Given the description of an element on the screen output the (x, y) to click on. 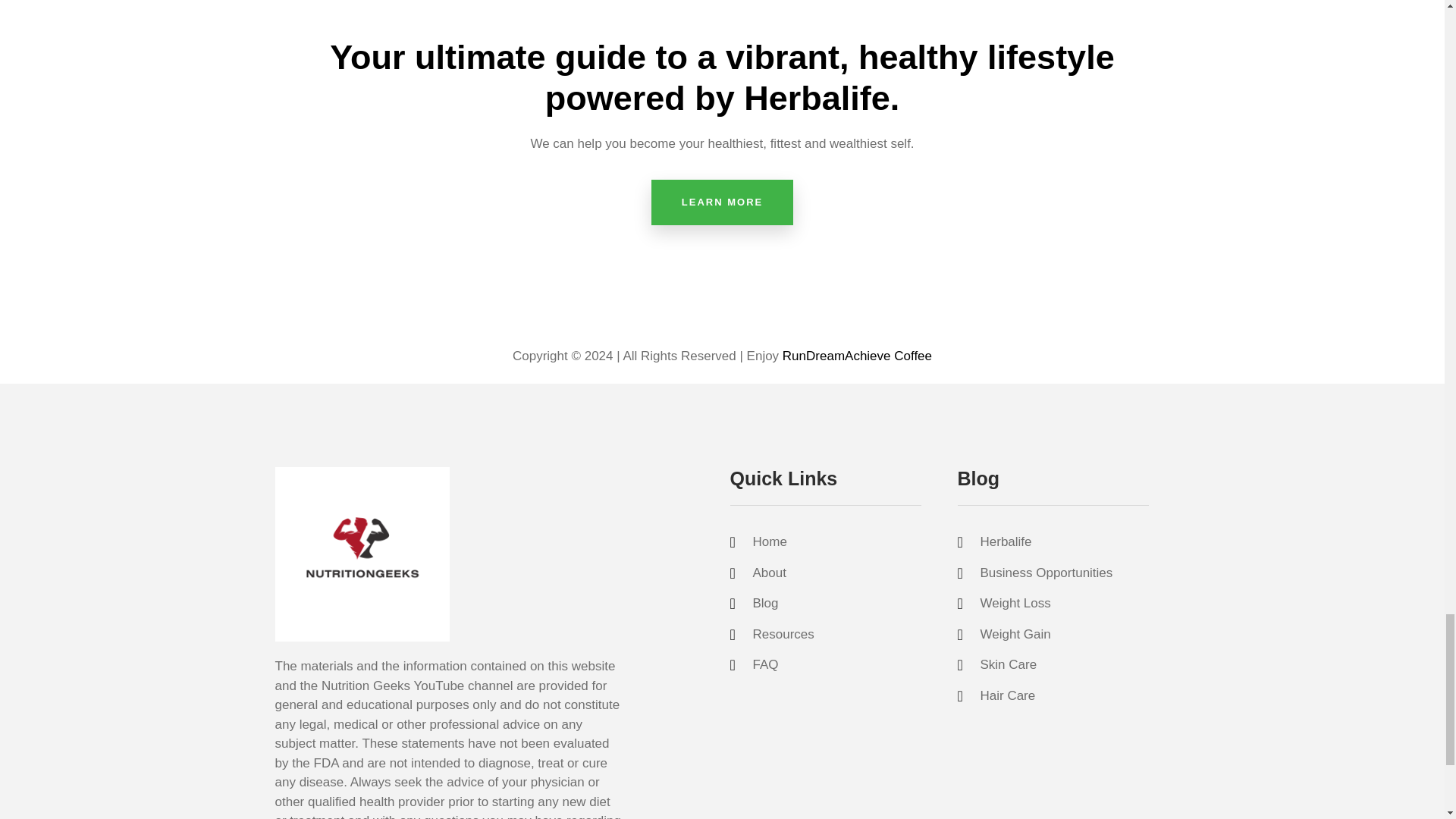
FAQ (835, 664)
Herbalife (1062, 542)
About (835, 573)
Blog (835, 603)
LEARN MORE (721, 202)
RunDreamAchieve Coffee (857, 355)
Resources (835, 634)
Home (835, 542)
